Given the description of an element on the screen output the (x, y) to click on. 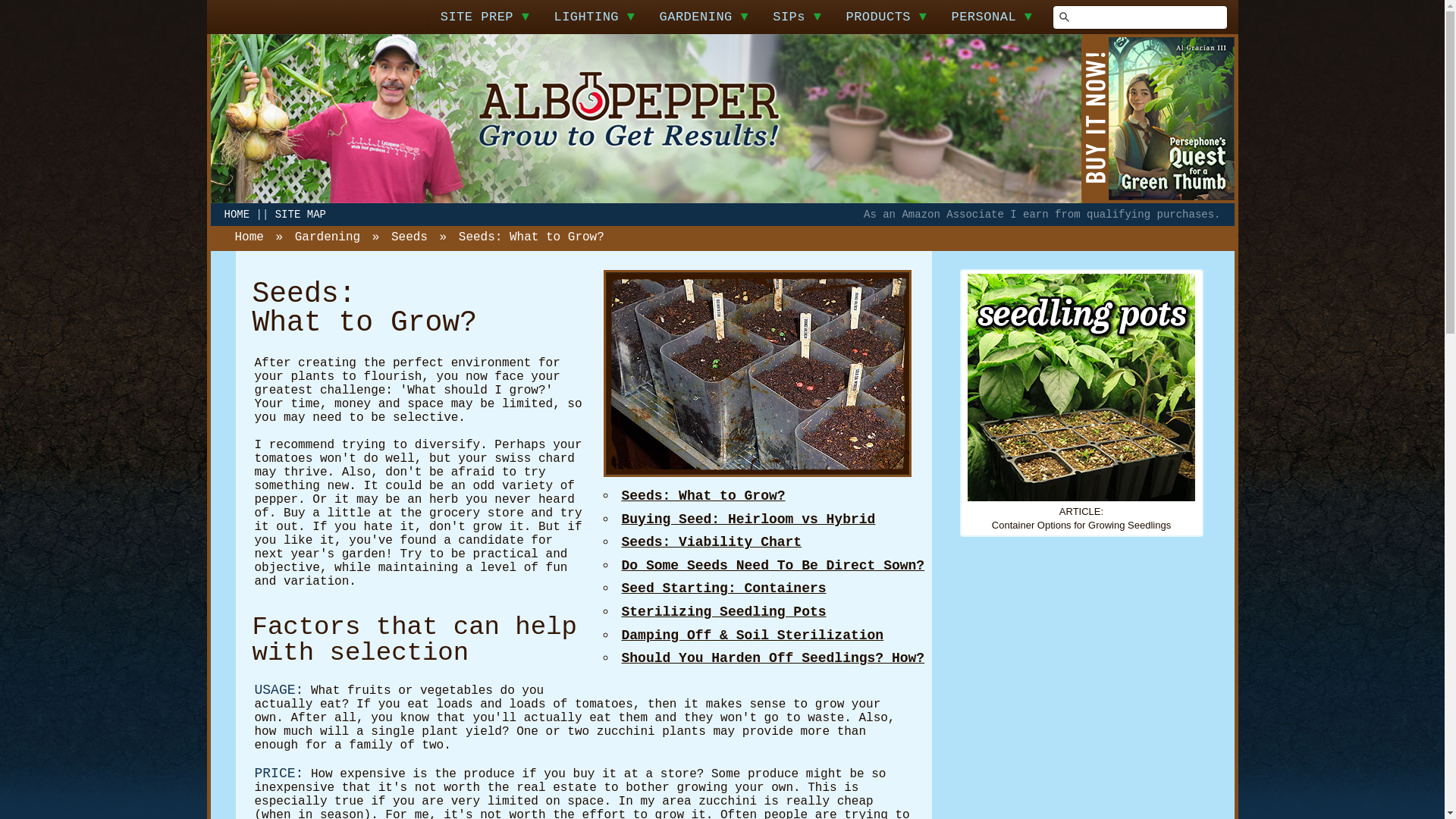
SEEDS - Pepper Seedlings (757, 373)
